Given the description of an element on the screen output the (x, y) to click on. 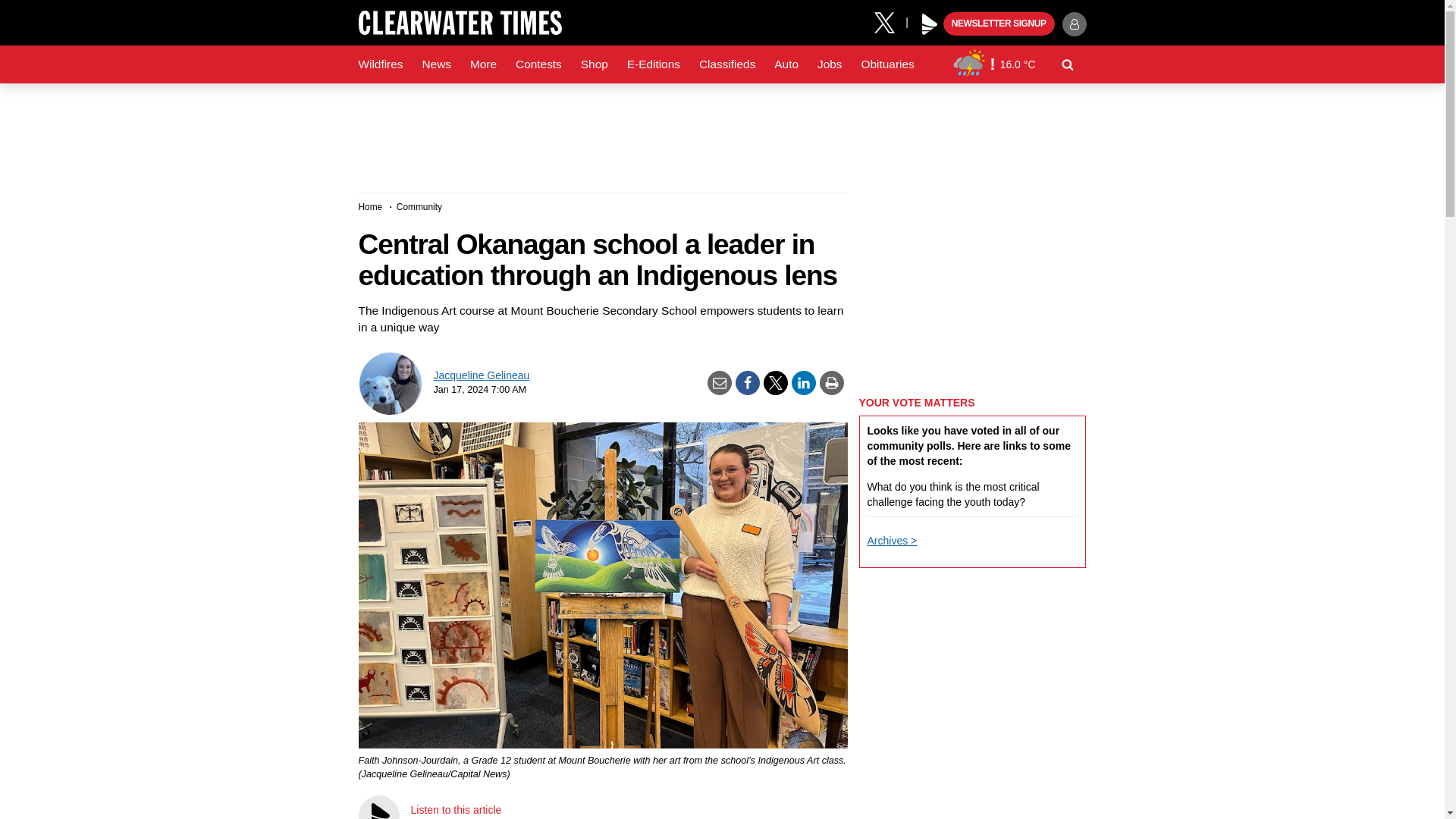
News (435, 64)
X (889, 21)
Wildfires (380, 64)
Play (929, 24)
NEWSLETTER SIGNUP (998, 24)
Black Press Media (929, 24)
